Given the description of an element on the screen output the (x, y) to click on. 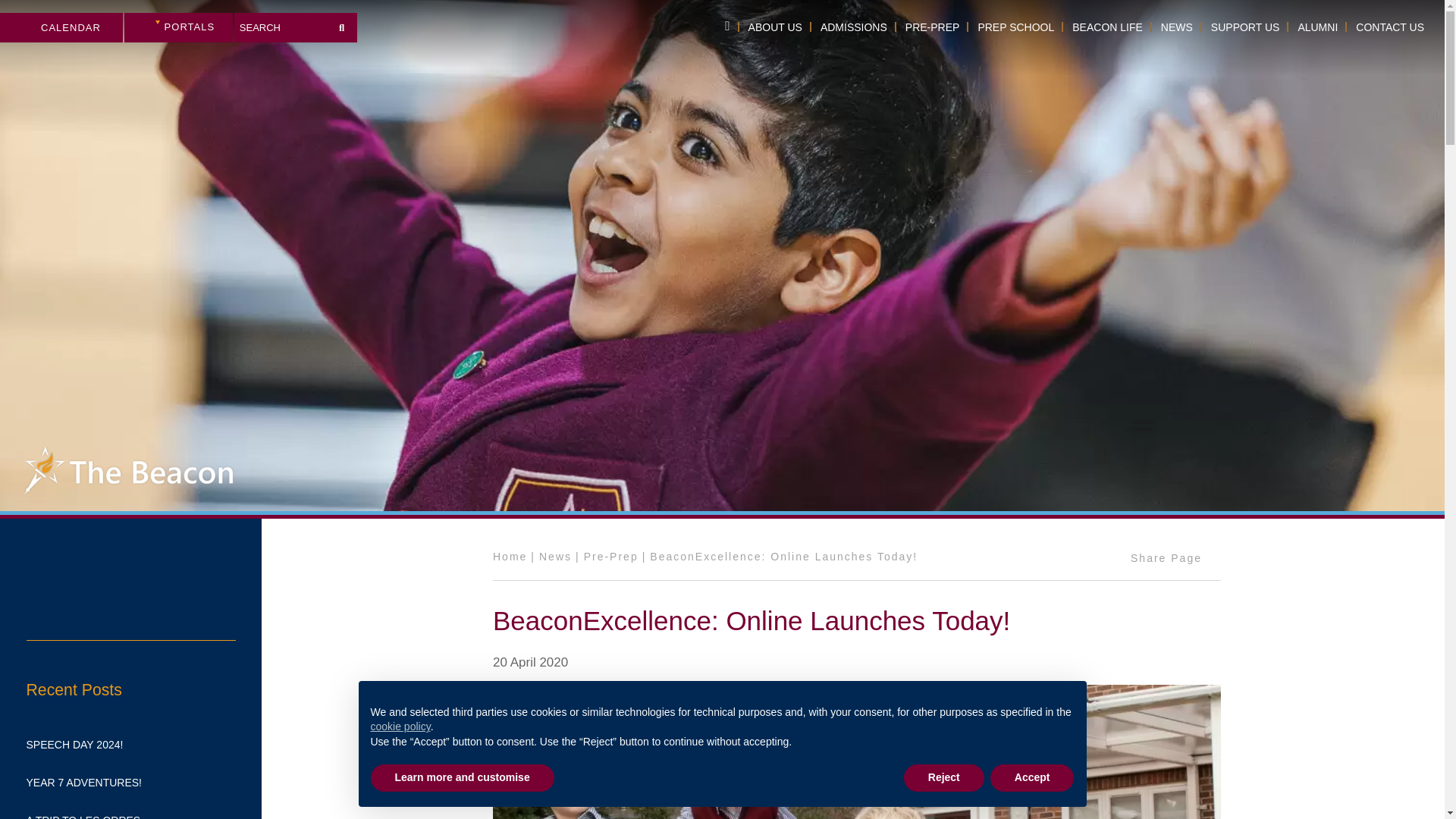
Search (341, 23)
CALENDAR (61, 27)
ADMISSIONS (853, 27)
Go to The Beacon School. (510, 556)
Go to the Pre-Prep category archives. (611, 556)
PRE-PREP (932, 27)
ABOUT US (775, 27)
Go to News. (555, 556)
HOME (727, 27)
